Given the description of an element on the screen output the (x, y) to click on. 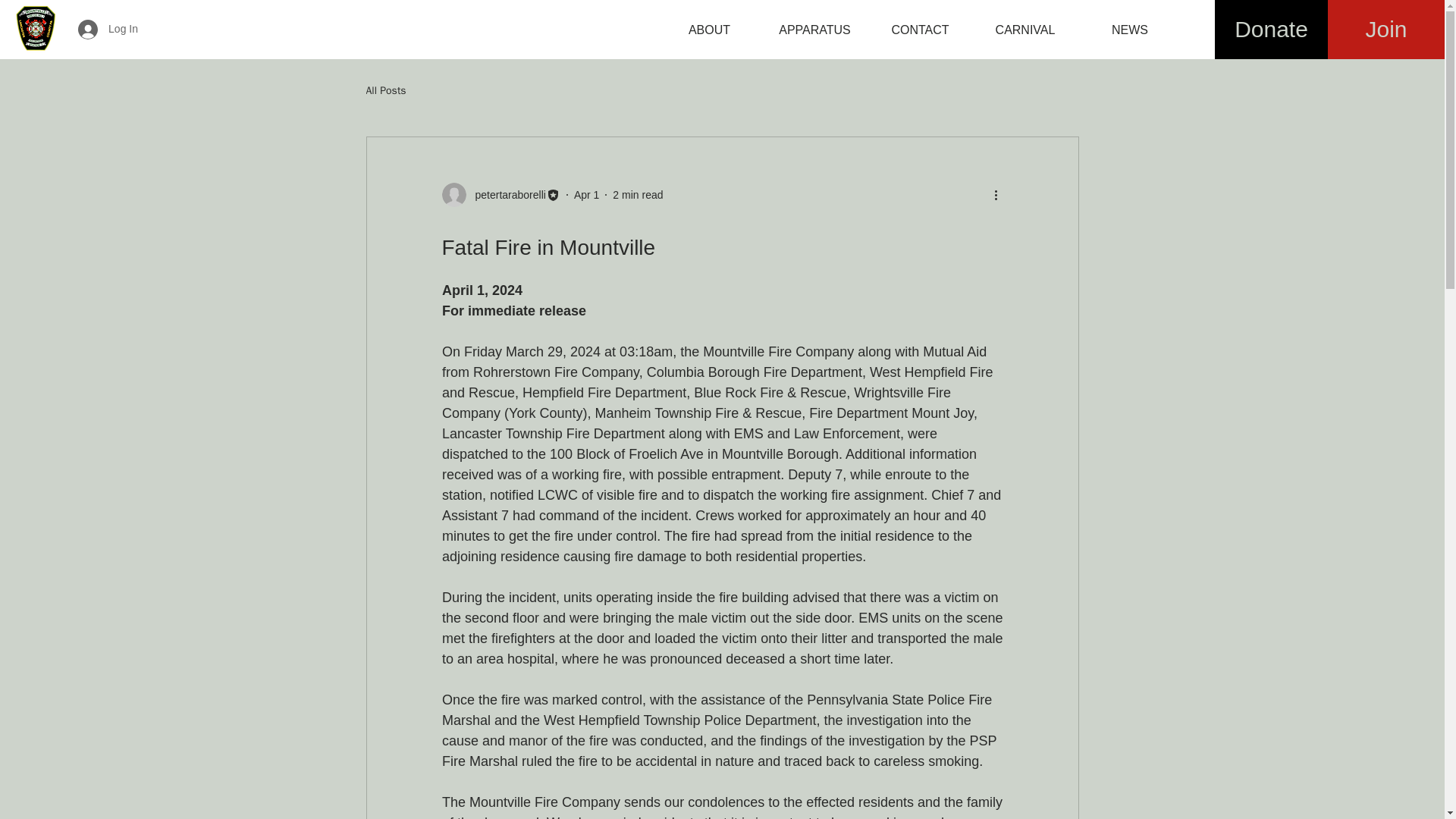
Donate (1270, 29)
APPARATUS (814, 30)
petertaraborelli (504, 194)
All Posts (385, 90)
CONTACT (919, 30)
petertaraborelli (500, 194)
CARNIVAL (1024, 30)
Apr 1 (585, 193)
ABOUT (708, 30)
NEWS (1129, 30)
Log In (107, 29)
2 min read (637, 193)
